Given the description of an element on the screen output the (x, y) to click on. 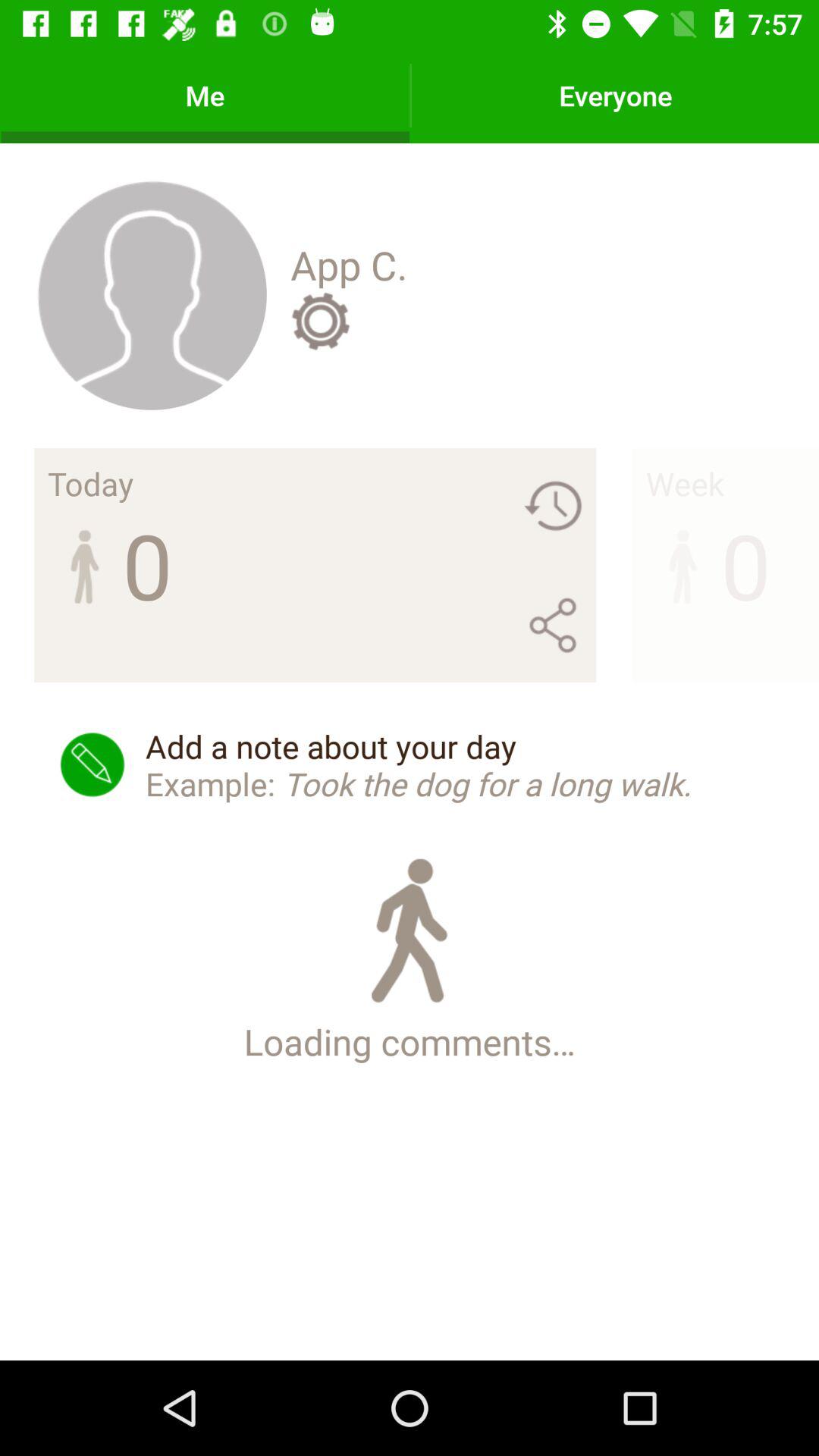
press today icon (90, 483)
